Given the description of an element on the screen output the (x, y) to click on. 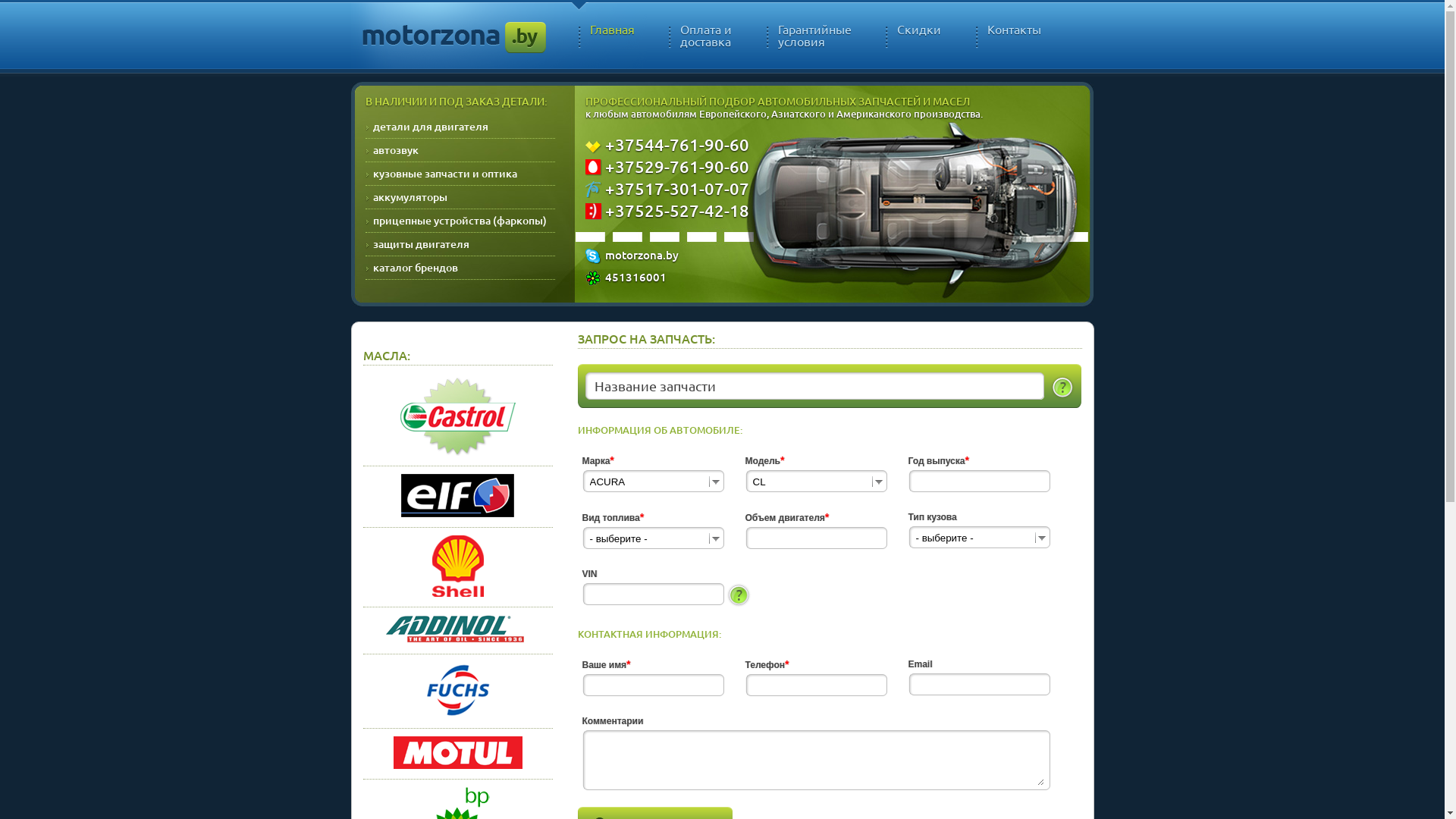
ADDINOL Element type: hover (457, 639)
Castrol Element type: hover (457, 451)
Motul Element type: hover (456, 765)
Fuchs Element type: hover (457, 714)
Elf Element type: hover (457, 513)
